Given the description of an element on the screen output the (x, y) to click on. 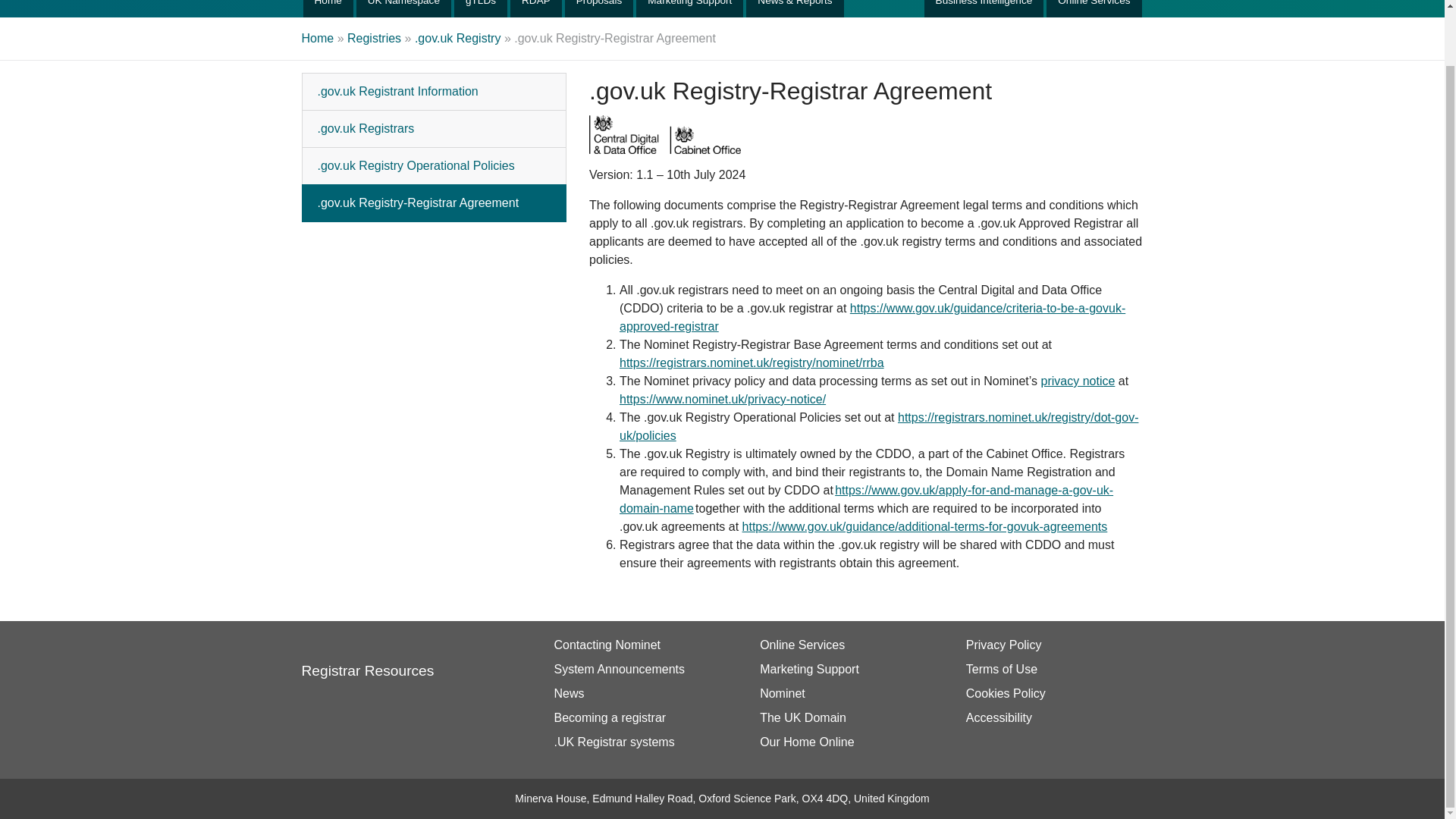
Contacting Nominet (638, 645)
gTLDs (480, 8)
privacy notice (1078, 380)
.gov.uk Registrant Information (434, 91)
Online Services (845, 645)
.gov.uk Registry (457, 38)
Registries (367, 658)
Privacy Policy (374, 38)
RDAP (1050, 645)
Proposals (536, 8)
The UK Domain (598, 8)
System Announcements (845, 717)
.gov.uk Registry-Registrar Agreement (638, 669)
Home (434, 202)
